Given the description of an element on the screen output the (x, y) to click on. 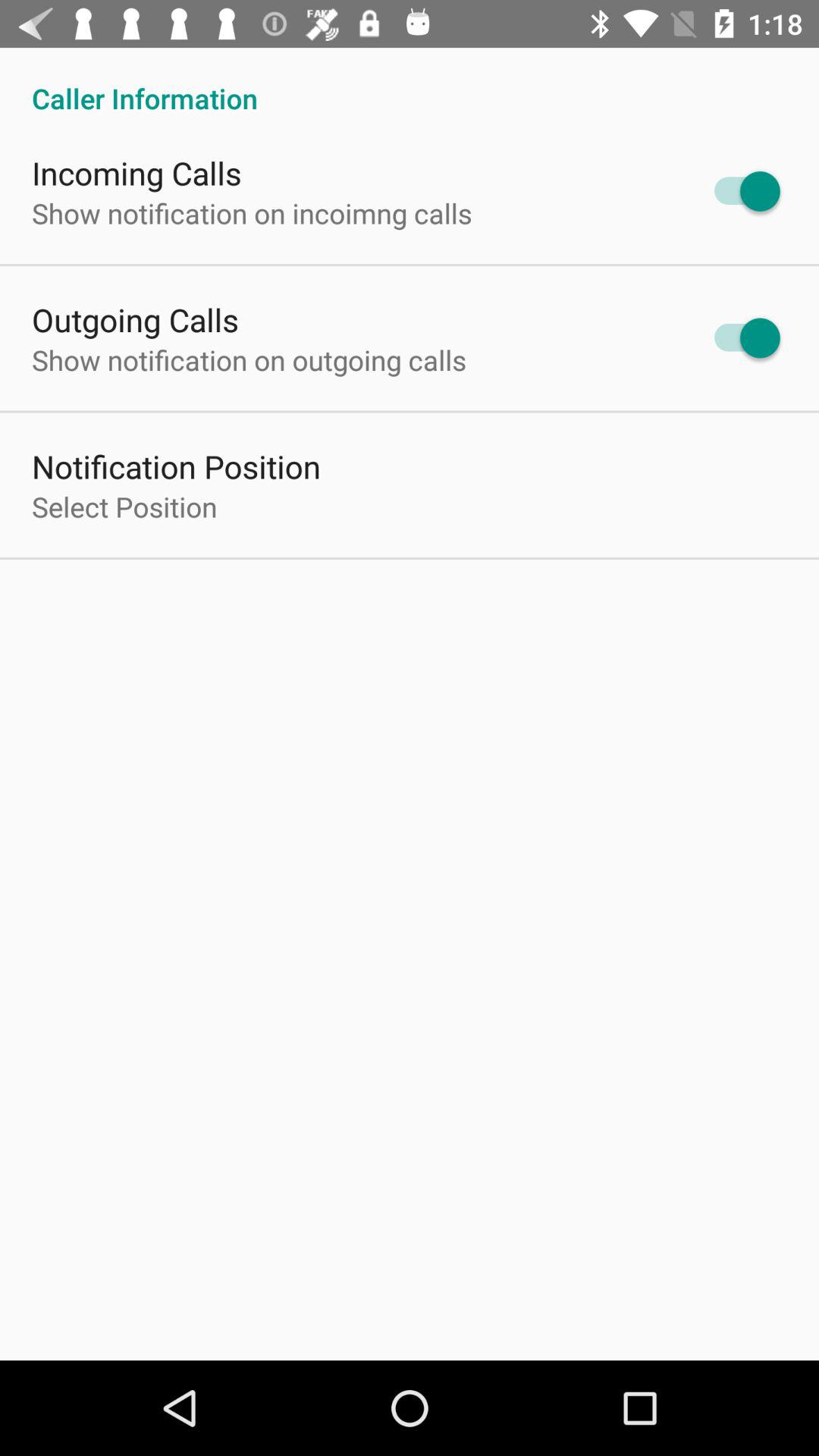
choose the item below the notification position icon (124, 506)
